Given the description of an element on the screen output the (x, y) to click on. 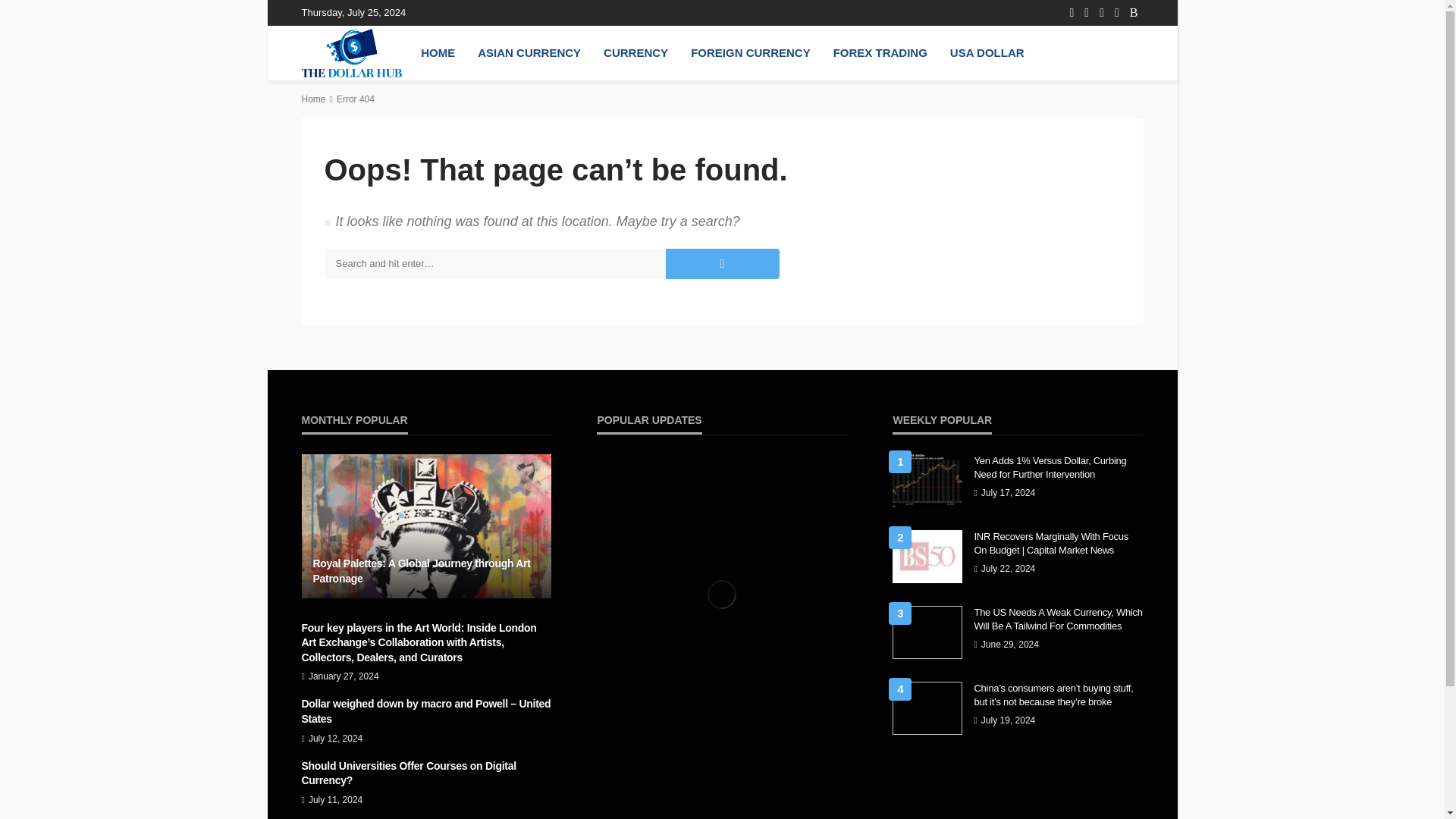
HOME (437, 52)
Royal Palettes: A Global Journey through Art Patronage (426, 526)
Home (313, 99)
Should Universities Offer Courses on Digital Currency? (426, 773)
FOREX TRADING (880, 52)
The Dollar Hub (352, 52)
FOREIGN CURRENCY (750, 52)
CURRENCY (635, 52)
Search for: (494, 263)
ASIAN CURRENCY (528, 52)
Royal Palettes: A Global Journey through Art Patronage (426, 571)
USA DOLLAR (987, 52)
Royal Palettes: A Global Journey through Art Patronage (426, 571)
